Given the description of an element on the screen output the (x, y) to click on. 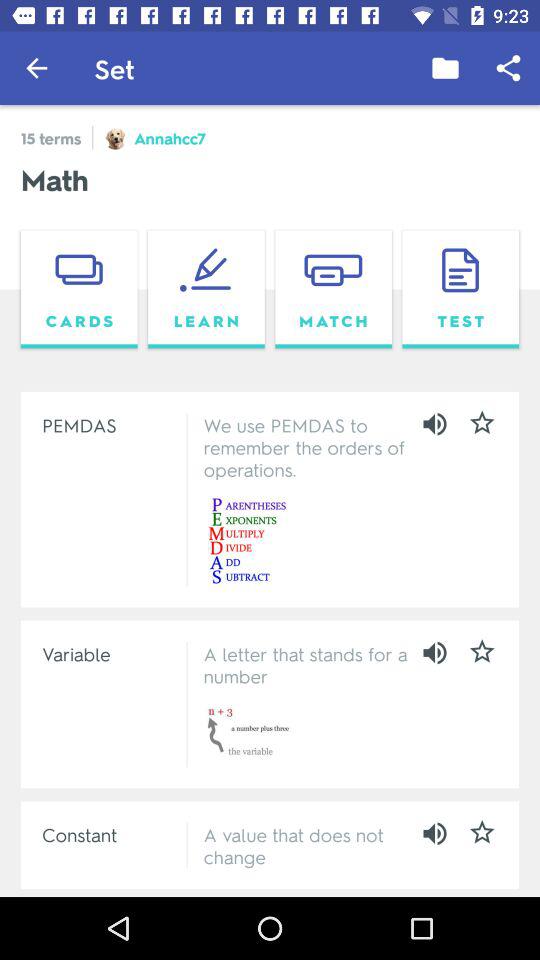
scroll to variable icon (110, 653)
